Given the description of an element on the screen output the (x, y) to click on. 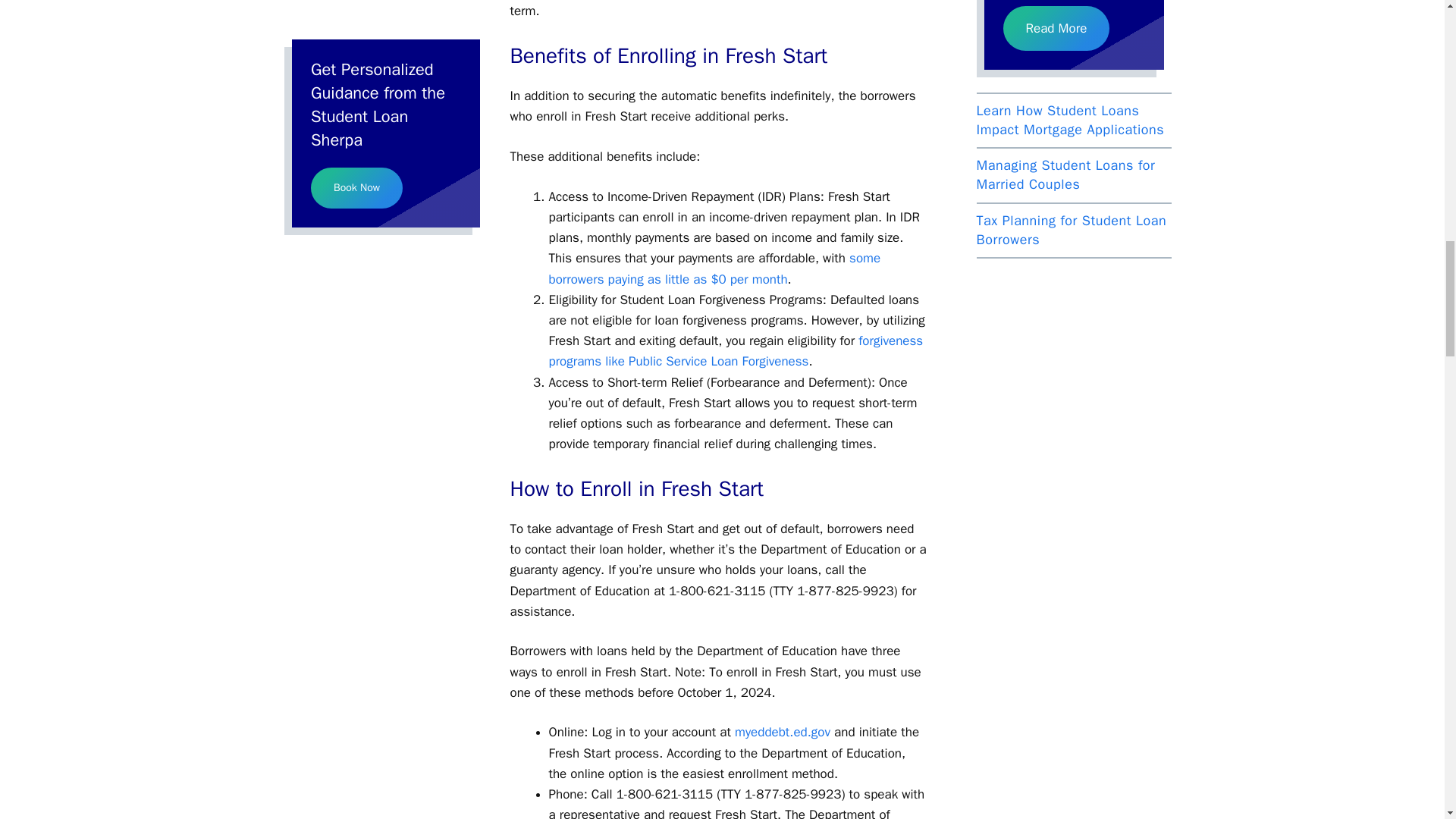
forgiveness programs like Public Service Loan Forgiveness (735, 350)
myeddebt.ed.gov (782, 731)
